Given the description of an element on the screen output the (x, y) to click on. 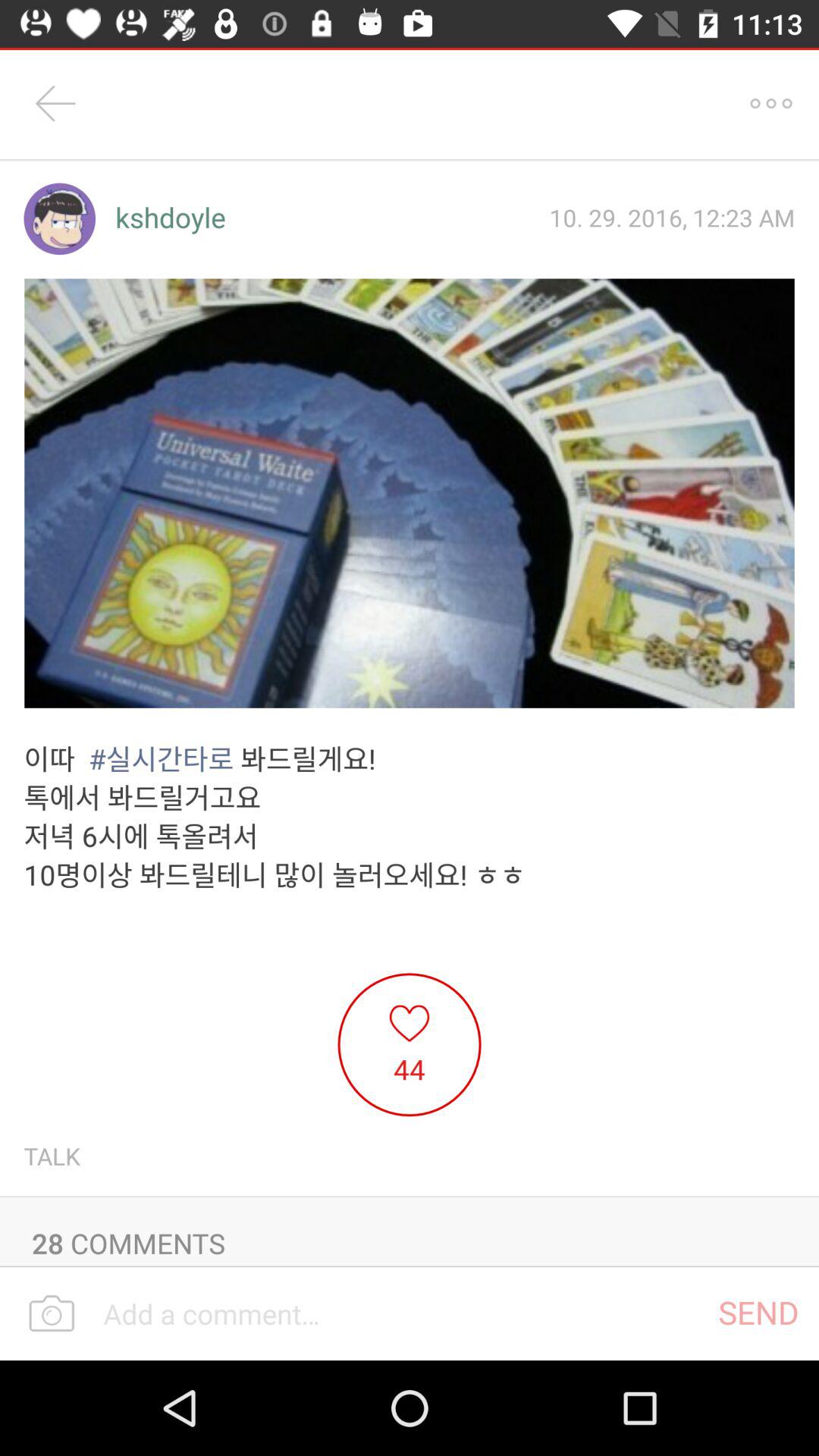
tap send item (758, 1311)
